Given the description of an element on the screen output the (x, y) to click on. 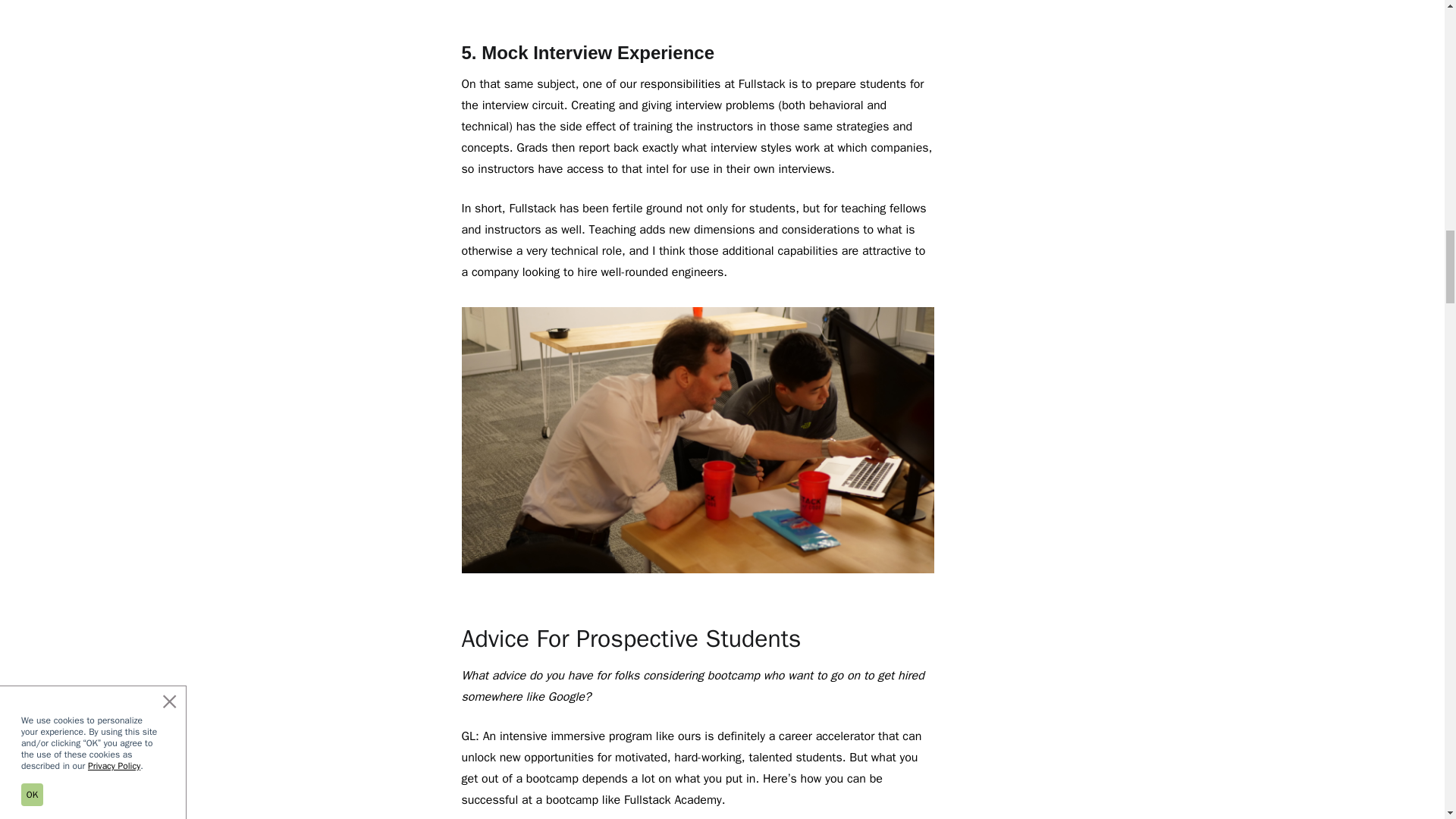
Gabriel Lebec works with student on a computer (697, 440)
